Given the description of an element on the screen output the (x, y) to click on. 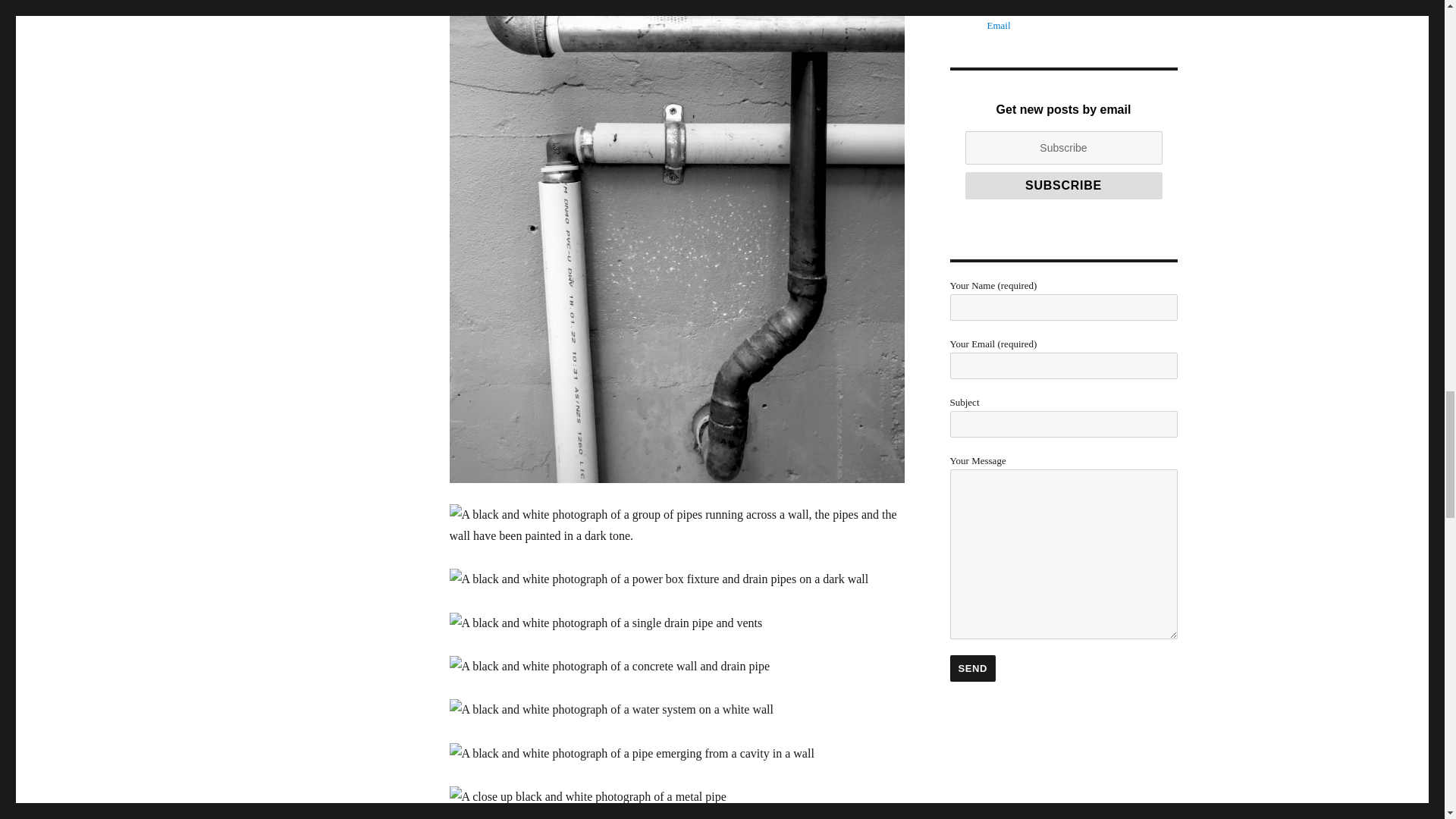
RSS (966, 2)
Facebook (1035, 9)
Subscribe (1062, 185)
Follow by Email (1002, 17)
Send (972, 668)
Instagram (1070, 9)
